Given the description of an element on the screen output the (x, y) to click on. 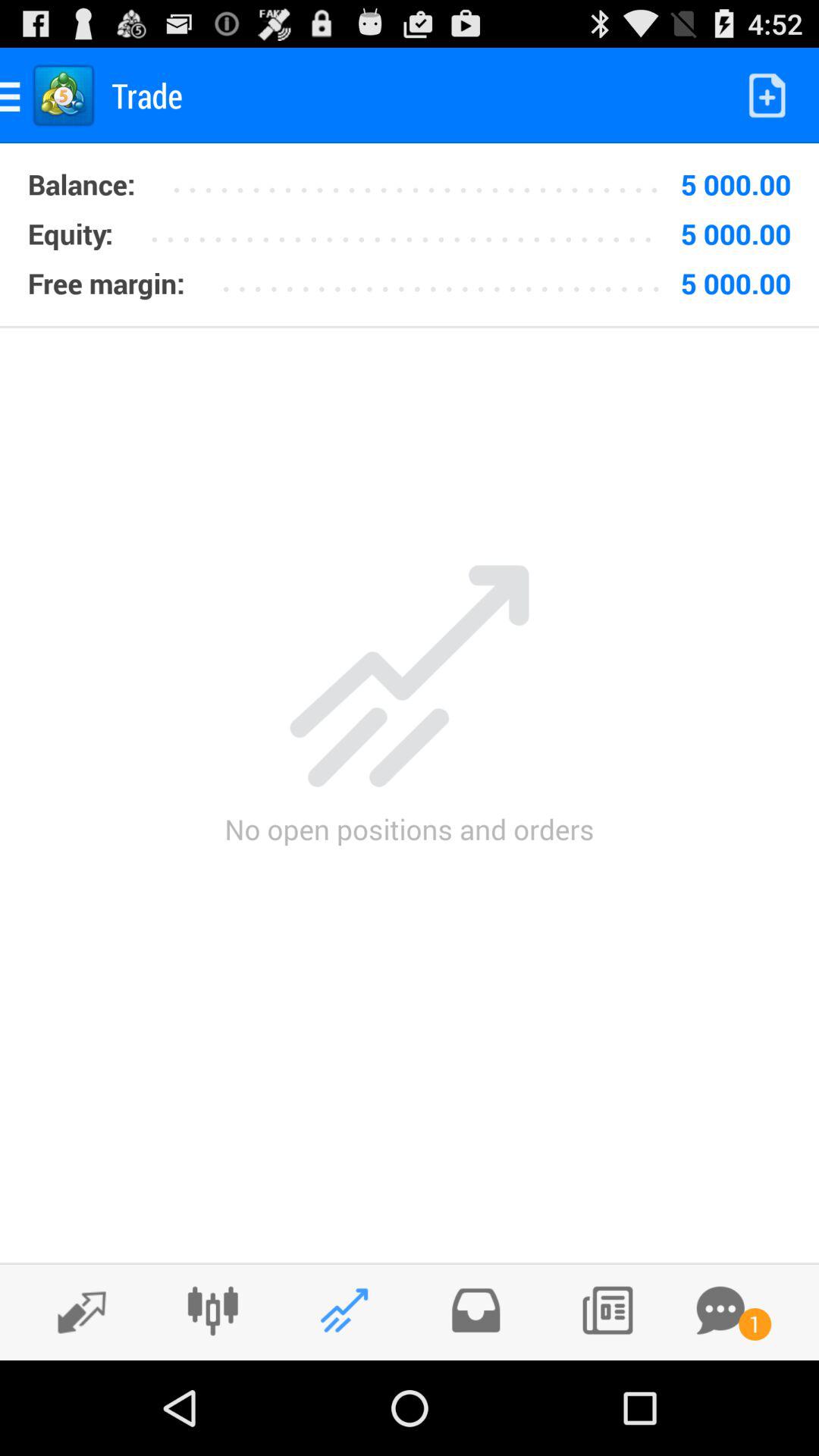
launch the item below the 5 000.00 icon (446, 277)
